Given the description of an element on the screen output the (x, y) to click on. 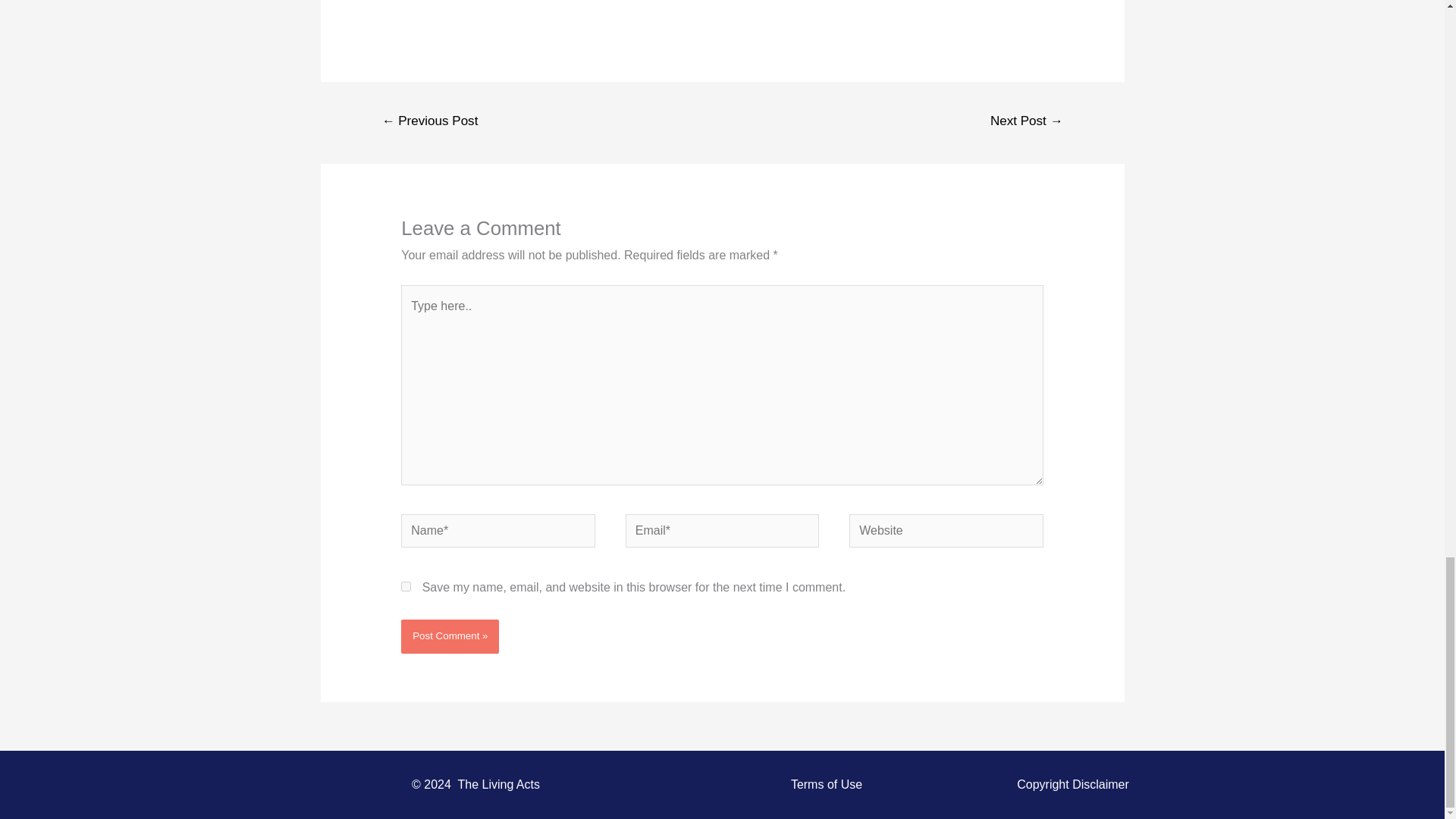
yes (405, 586)
Copyright Disclaimer (1072, 784)
Terms of Use (825, 784)
